Given the description of an element on the screen output the (x, y) to click on. 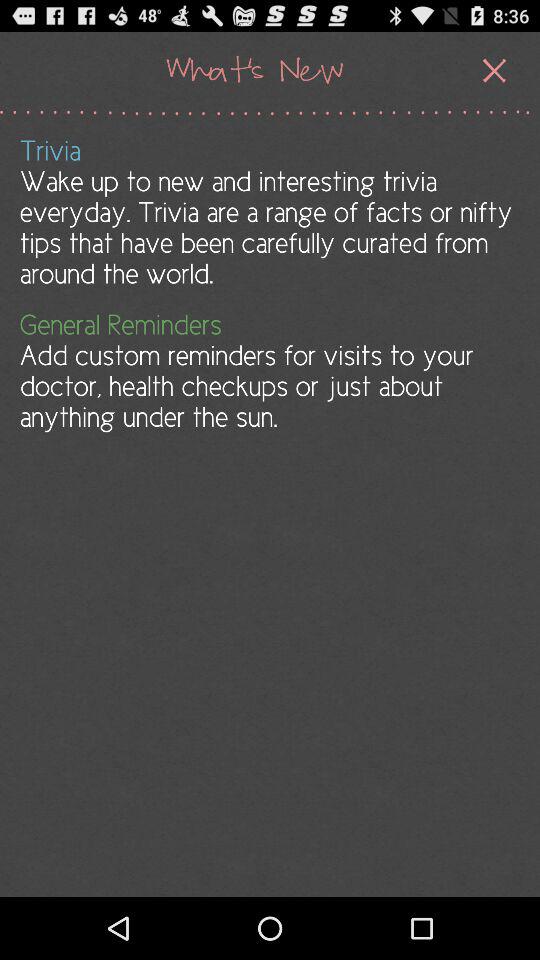
choose the icon at the center (268, 370)
